Given the description of an element on the screen output the (x, y) to click on. 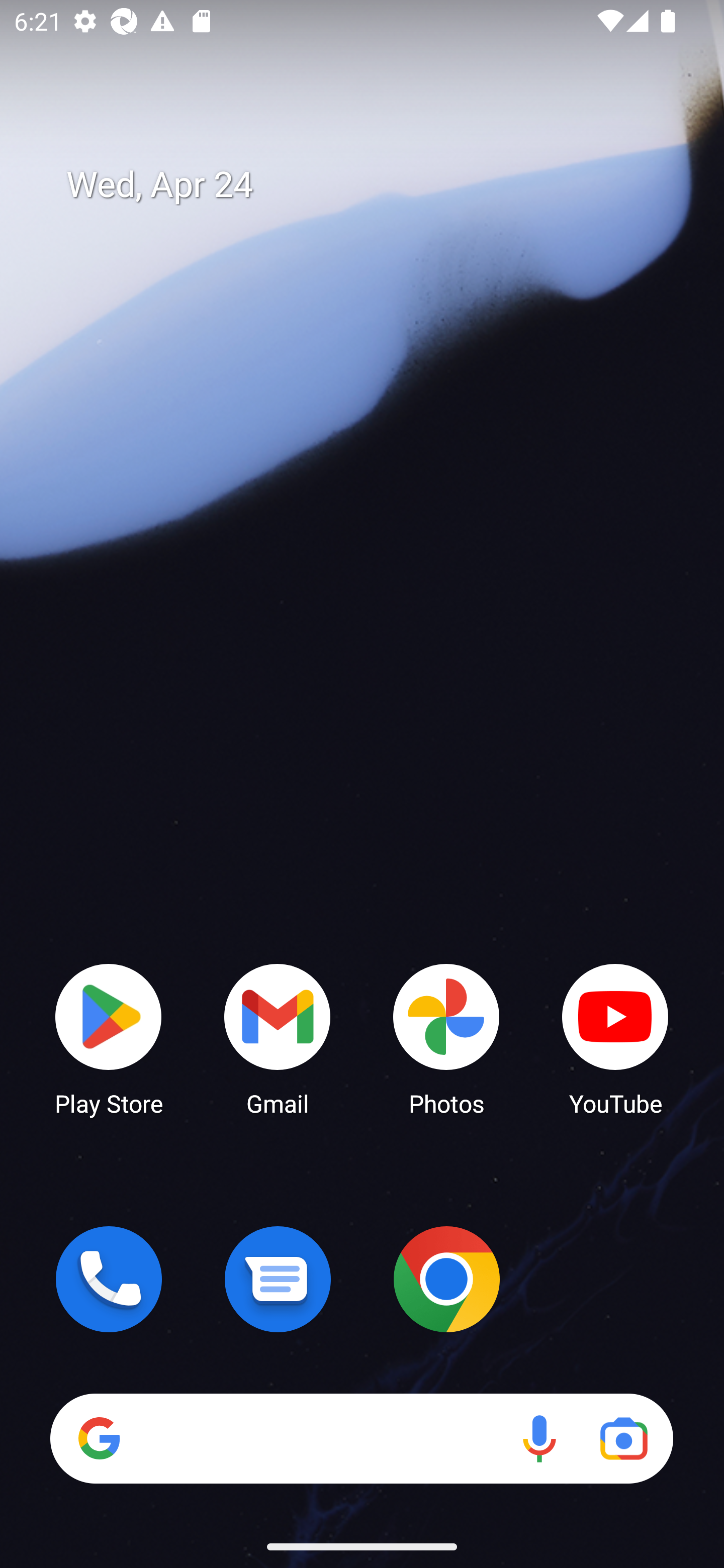
Wed, Apr 24 (375, 184)
Play Store (108, 1038)
Gmail (277, 1038)
Photos (445, 1038)
YouTube (615, 1038)
Phone (108, 1279)
Messages (277, 1279)
Chrome (446, 1279)
Search Voice search Google Lens (361, 1438)
Voice search (539, 1438)
Google Lens (623, 1438)
